Given the description of an element on the screen output the (x, y) to click on. 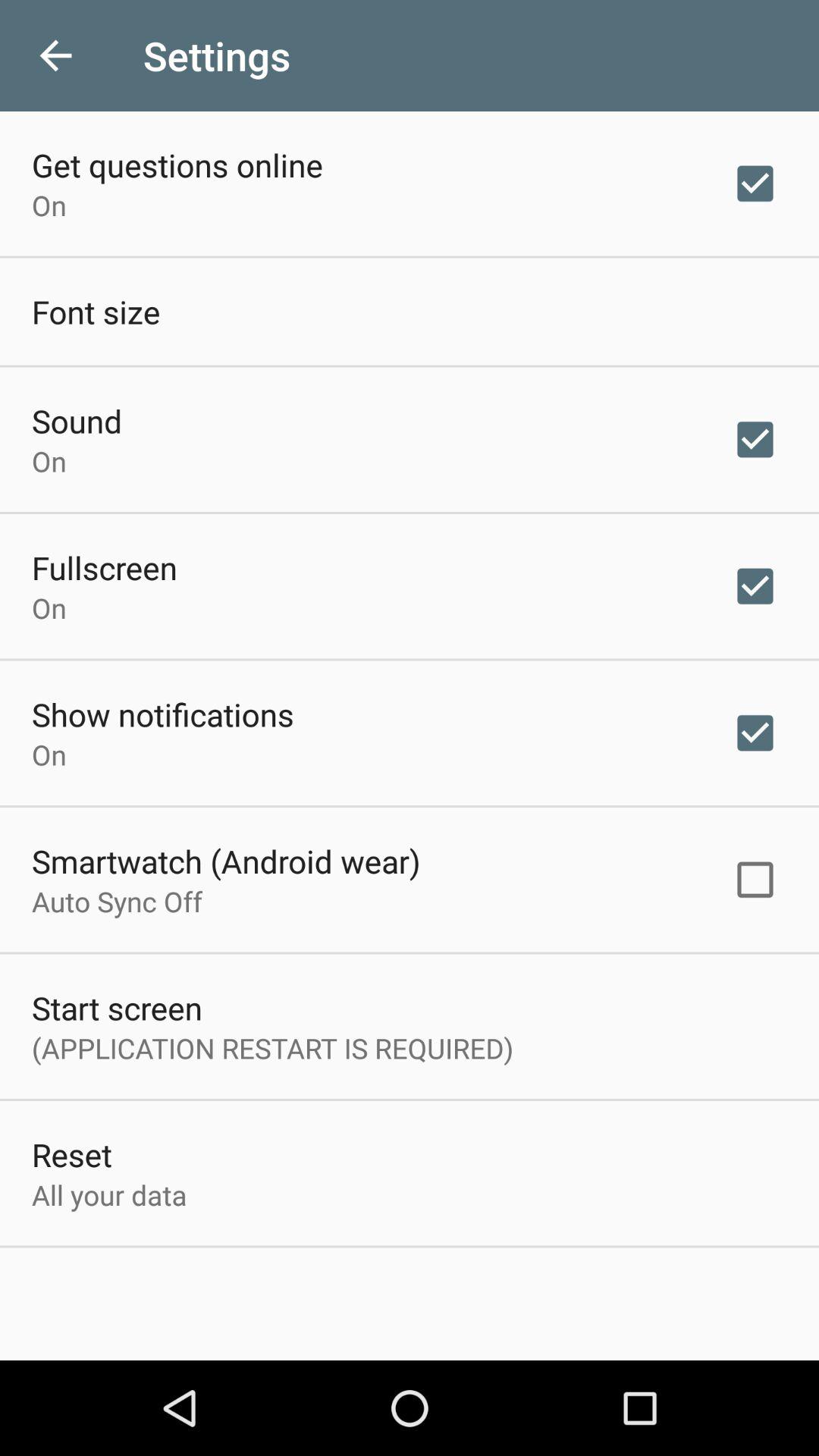
press icon above the start screen icon (116, 901)
